Given the description of an element on the screen output the (x, y) to click on. 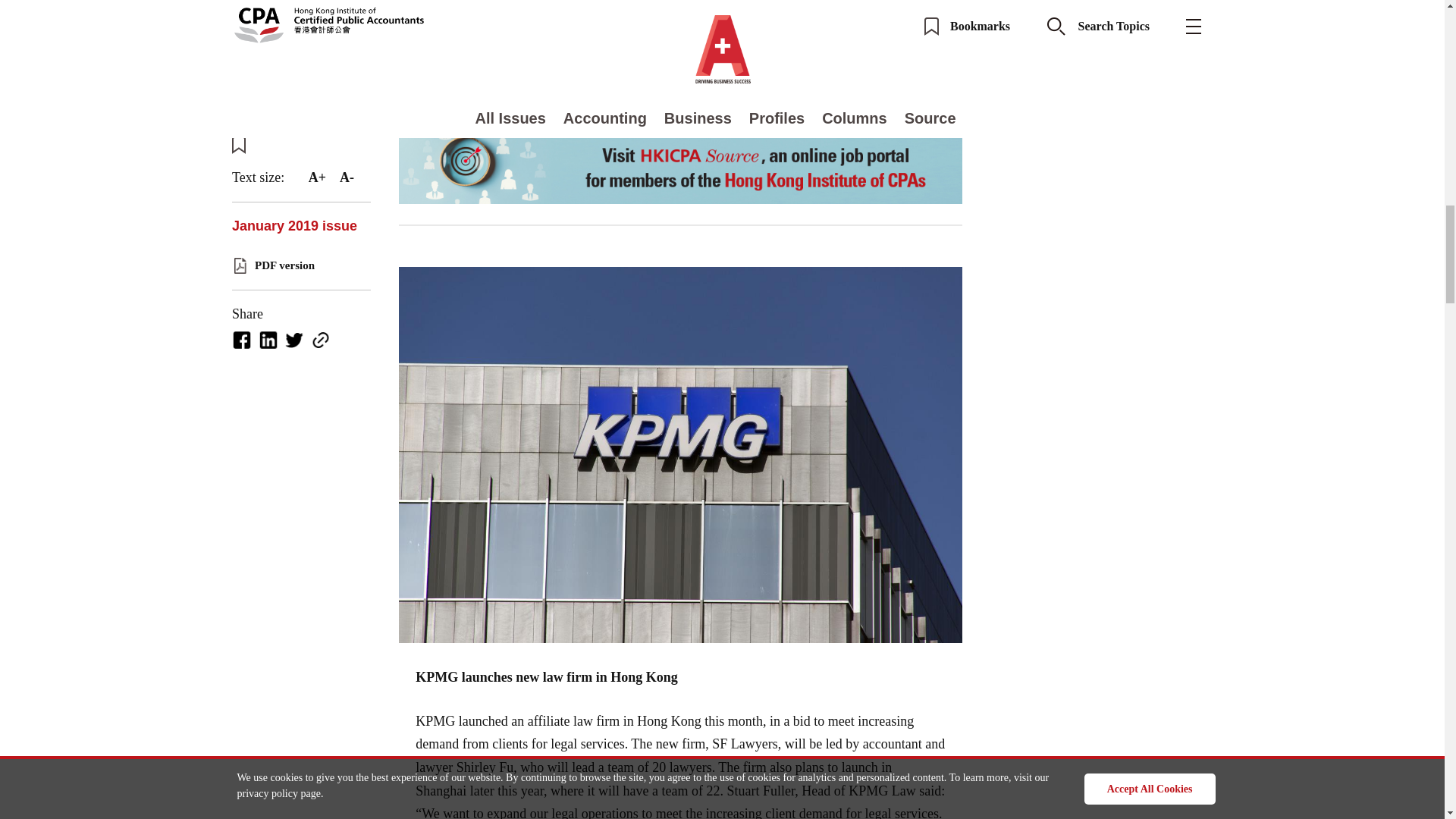
Page 2 (680, 113)
Page 2 (680, 730)
